Given the description of an element on the screen output the (x, y) to click on. 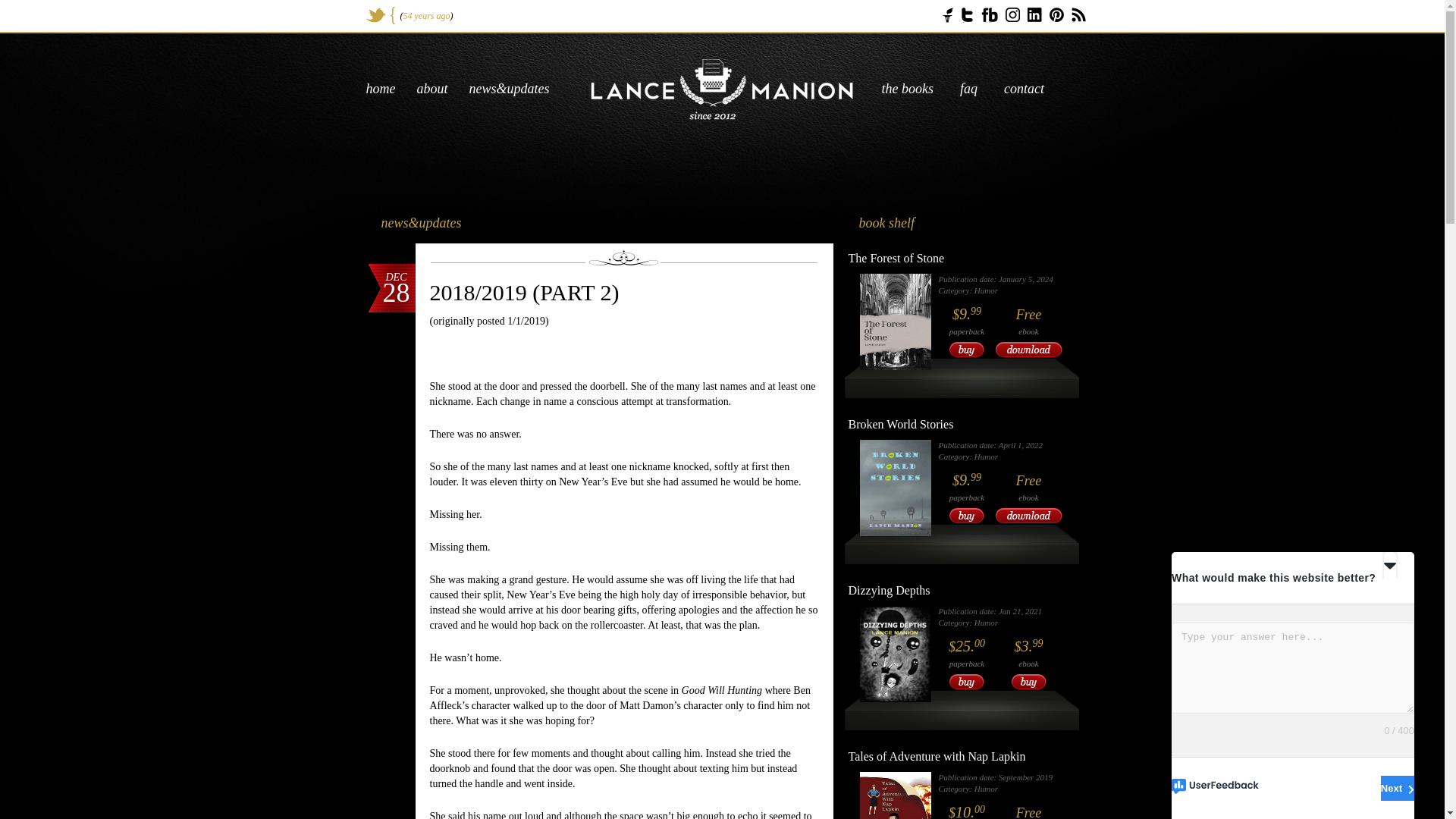
contact (1023, 88)
home (379, 88)
Instagram (1013, 14)
Pinterest (1056, 14)
Facebook (989, 14)
Rss (1078, 14)
LinkedIn (1033, 14)
about (432, 88)
faq (967, 88)
the books (906, 88)
Lance Manion (722, 89)
